Given the description of an element on the screen output the (x, y) to click on. 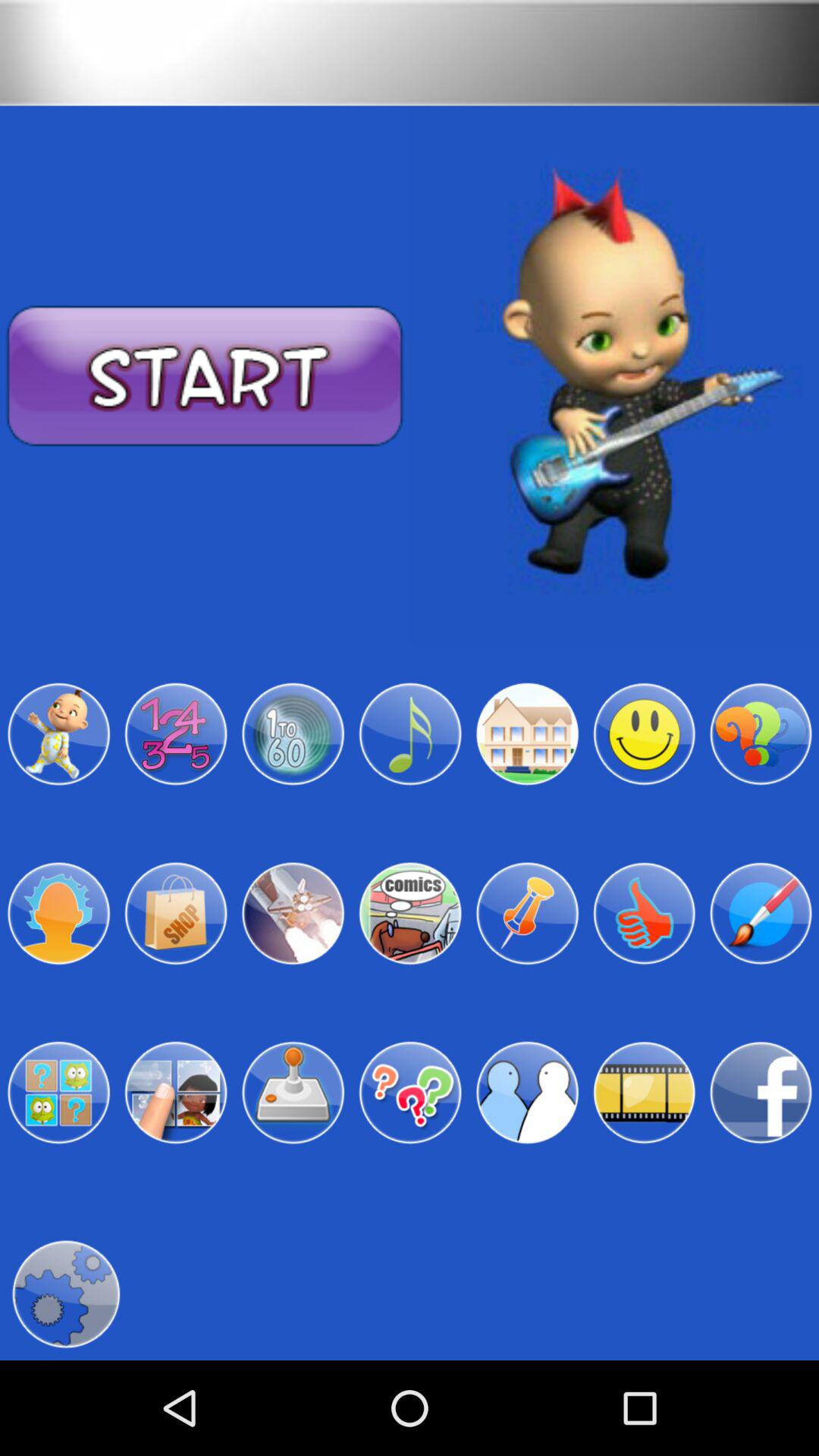
music (409, 734)
